Given the description of an element on the screen output the (x, y) to click on. 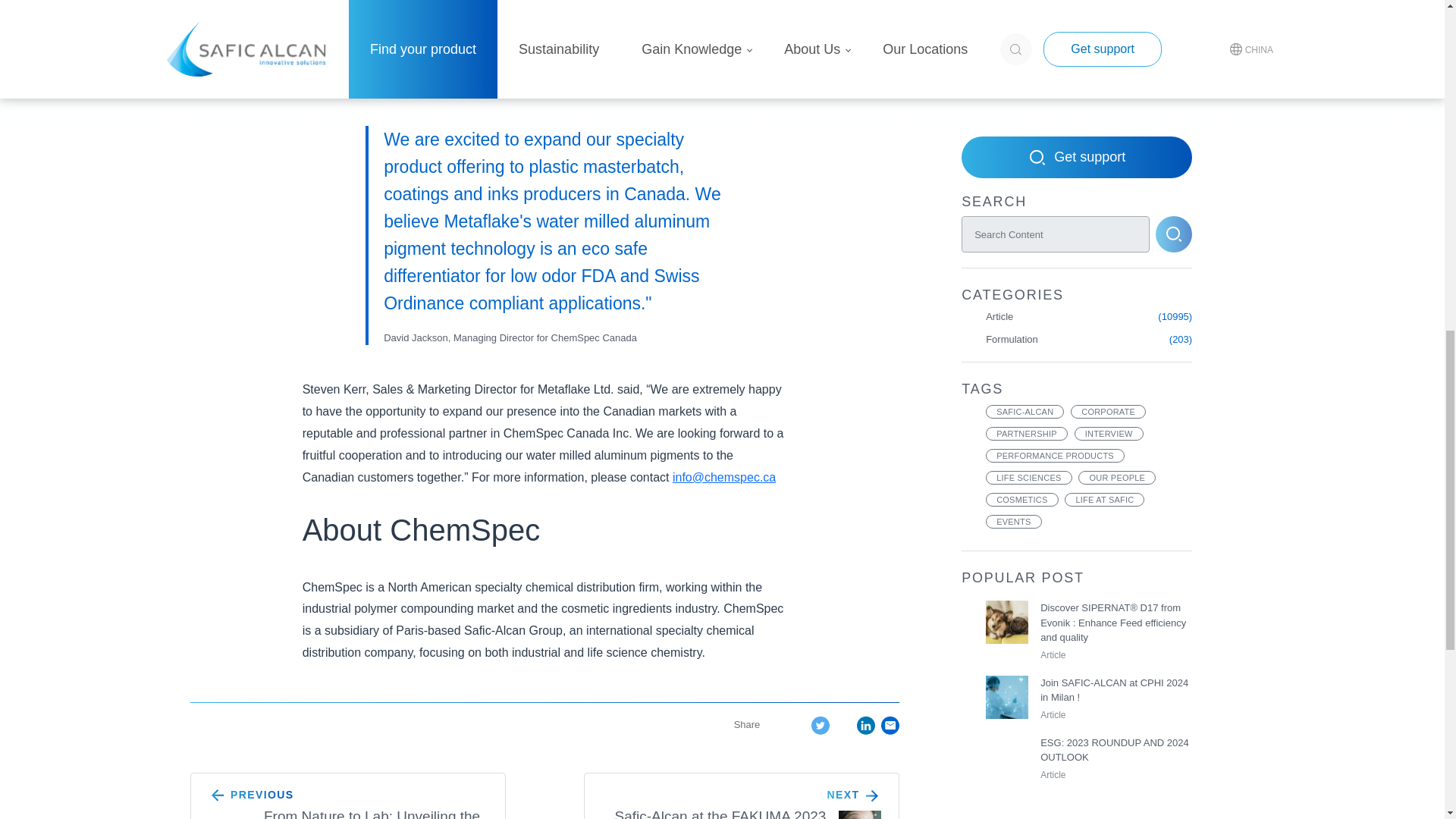
Share to Twitter (819, 724)
Share to Facebook (797, 723)
Share to Linkedin (866, 724)
Share to WhatsApp (842, 723)
Share to E-mail (889, 724)
